Given the description of an element on the screen output the (x, y) to click on. 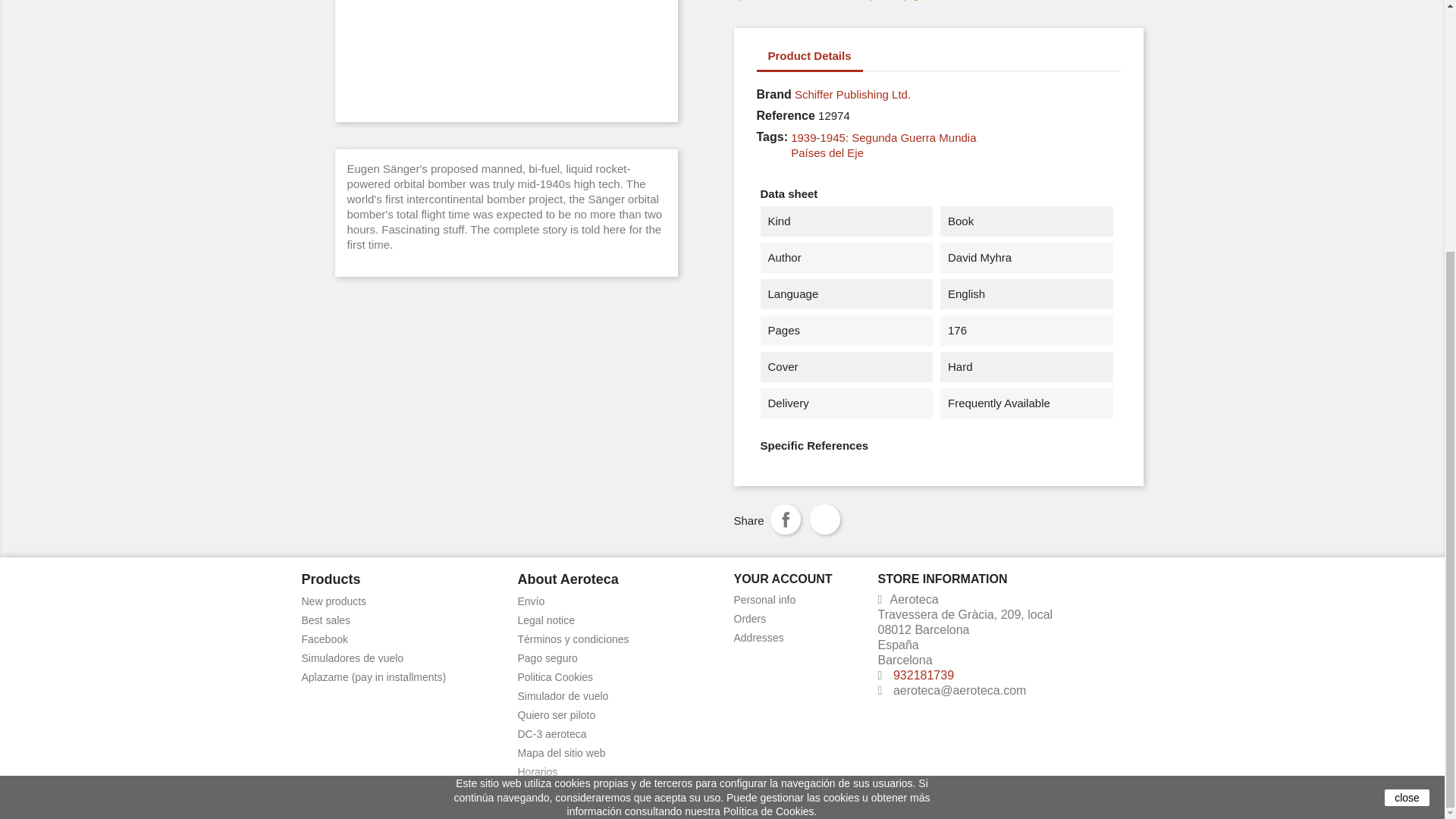
Best sales (325, 620)
Share (785, 519)
Nuestra forma de pago segura (546, 657)
New products (333, 601)
Tweet (824, 519)
Legal notice (545, 620)
